Given the description of an element on the screen output the (x, y) to click on. 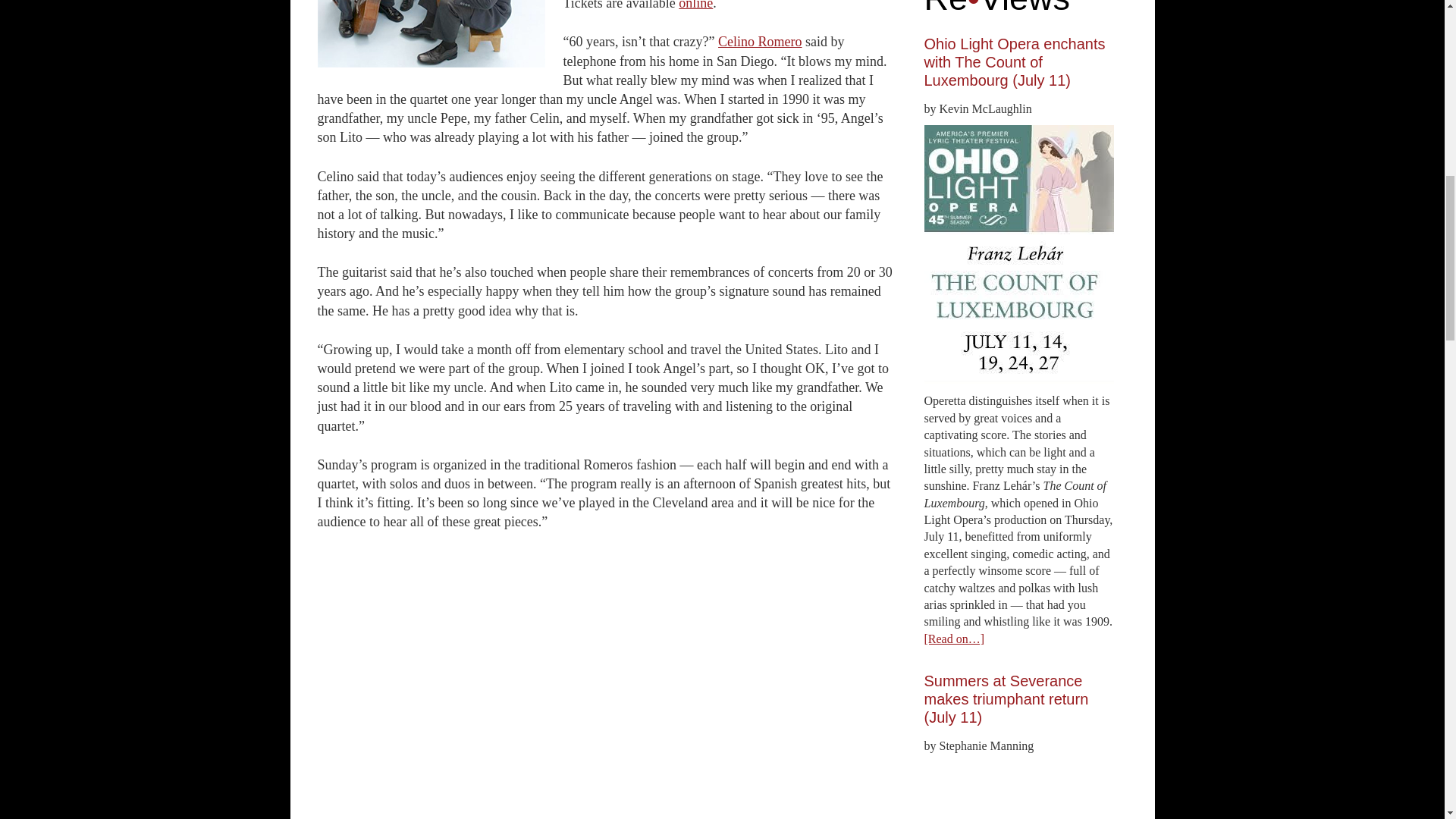
Celino Romero (759, 41)
online (695, 5)
